Given the description of an element on the screen output the (x, y) to click on. 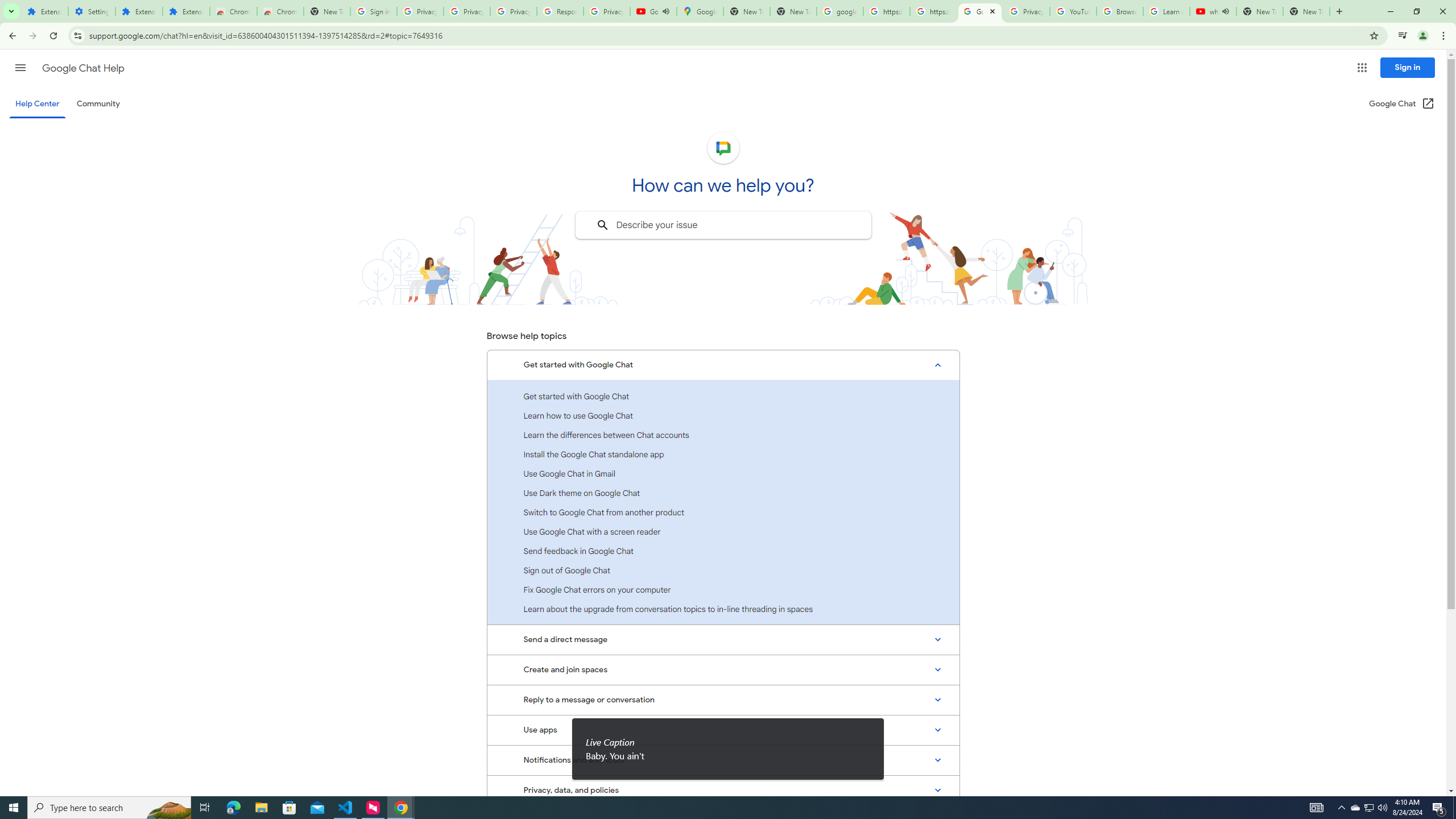
Switch to Google Chat from another product (722, 512)
YouTube (1073, 11)
Learn how to use Google Chat (722, 415)
Sign out of Google Chat (722, 570)
Google Chat Help (980, 11)
